Given the description of an element on the screen output the (x, y) to click on. 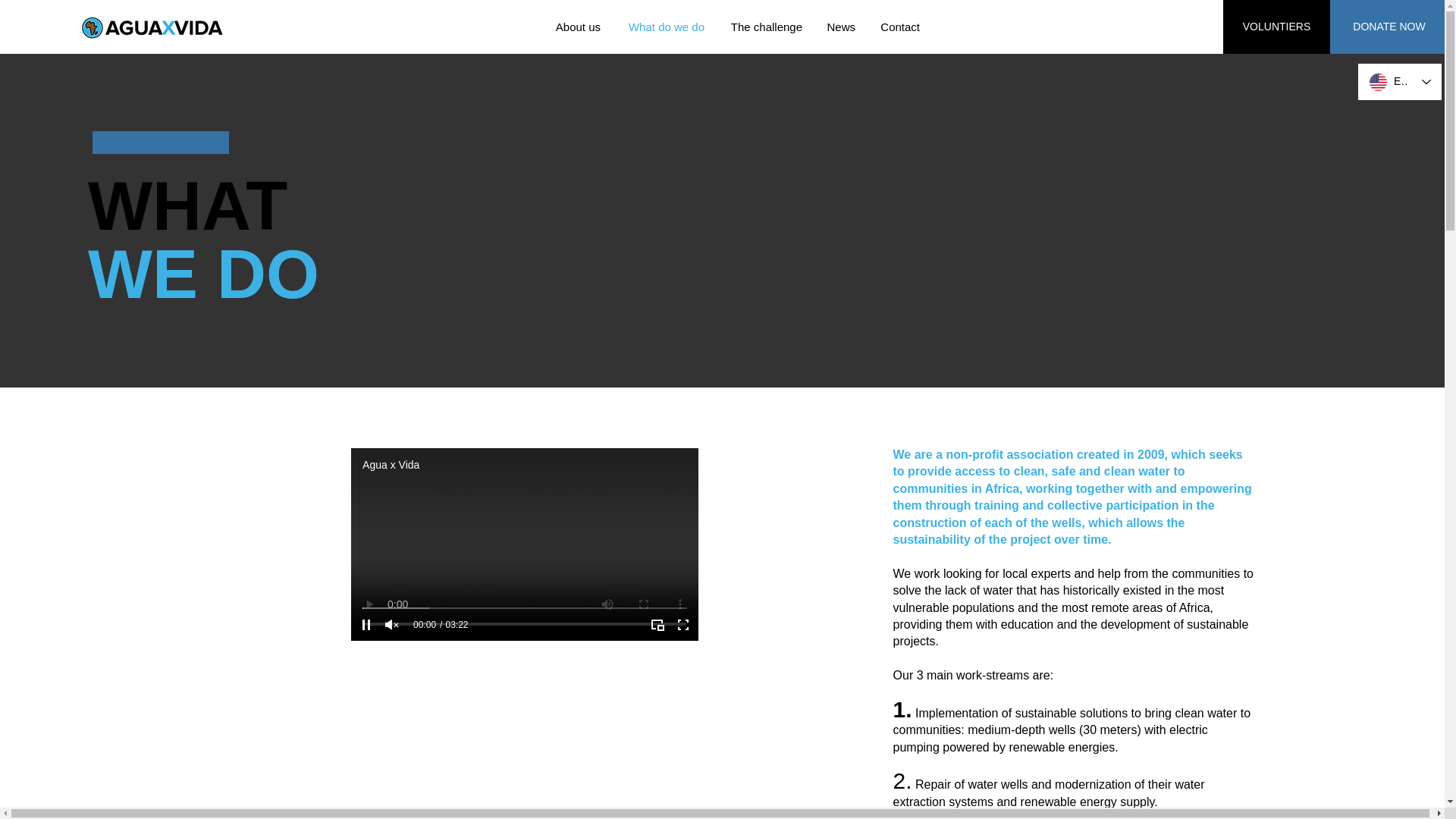
About us (575, 26)
What do we do (663, 26)
The challenge (764, 26)
VOLUNTIERS (1276, 27)
News (839, 26)
Contact (898, 26)
